Given the description of an element on the screen output the (x, y) to click on. 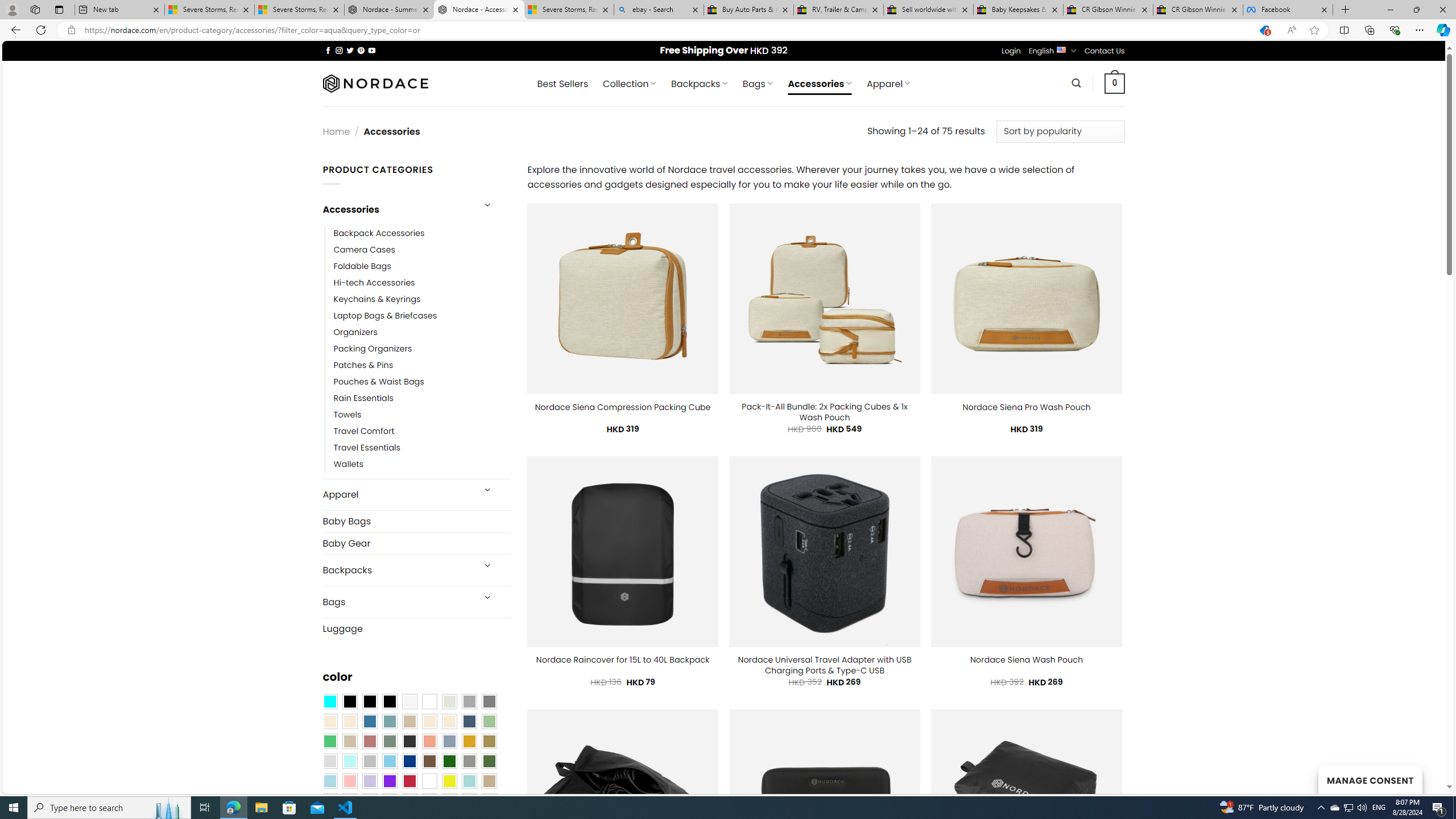
Pouches & Waist Bags (378, 381)
  Best Sellers (562, 83)
Nordace Siena Compression Packing Cube (622, 406)
Patches & Pins (422, 365)
Foldable Bags (362, 265)
Shop order (1060, 131)
Dark Green (449, 761)
